Given the description of an element on the screen output the (x, y) to click on. 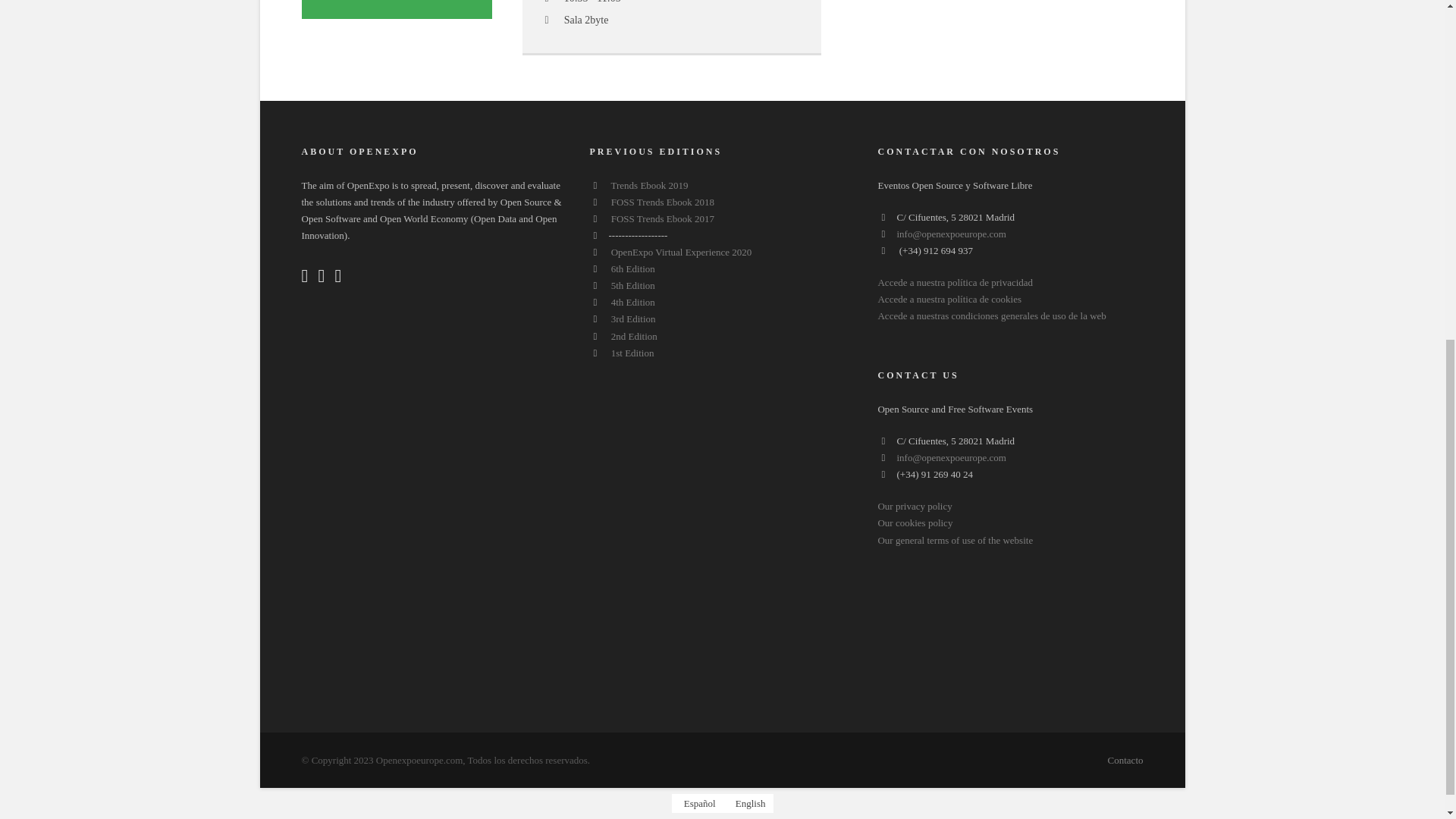
1st Edition (632, 352)
English (748, 803)
4th Edition (633, 301)
6th Edition (633, 268)
FOSS Trends Ebook 2018 (662, 202)
5th Edition (633, 285)
FOSS Trends Ebook 2017 (662, 218)
3rd Edition (633, 318)
Trends Ebook 2019 (649, 184)
2nd Edition (634, 336)
OpenExpo Virtual Experience 2020 (681, 251)
Our general terms of use of the website (954, 540)
Accede a nuestras condiciones generales de uso de la web (991, 315)
Our privacy policy (914, 505)
Contacto (1125, 759)
